Given the description of an element on the screen output the (x, y) to click on. 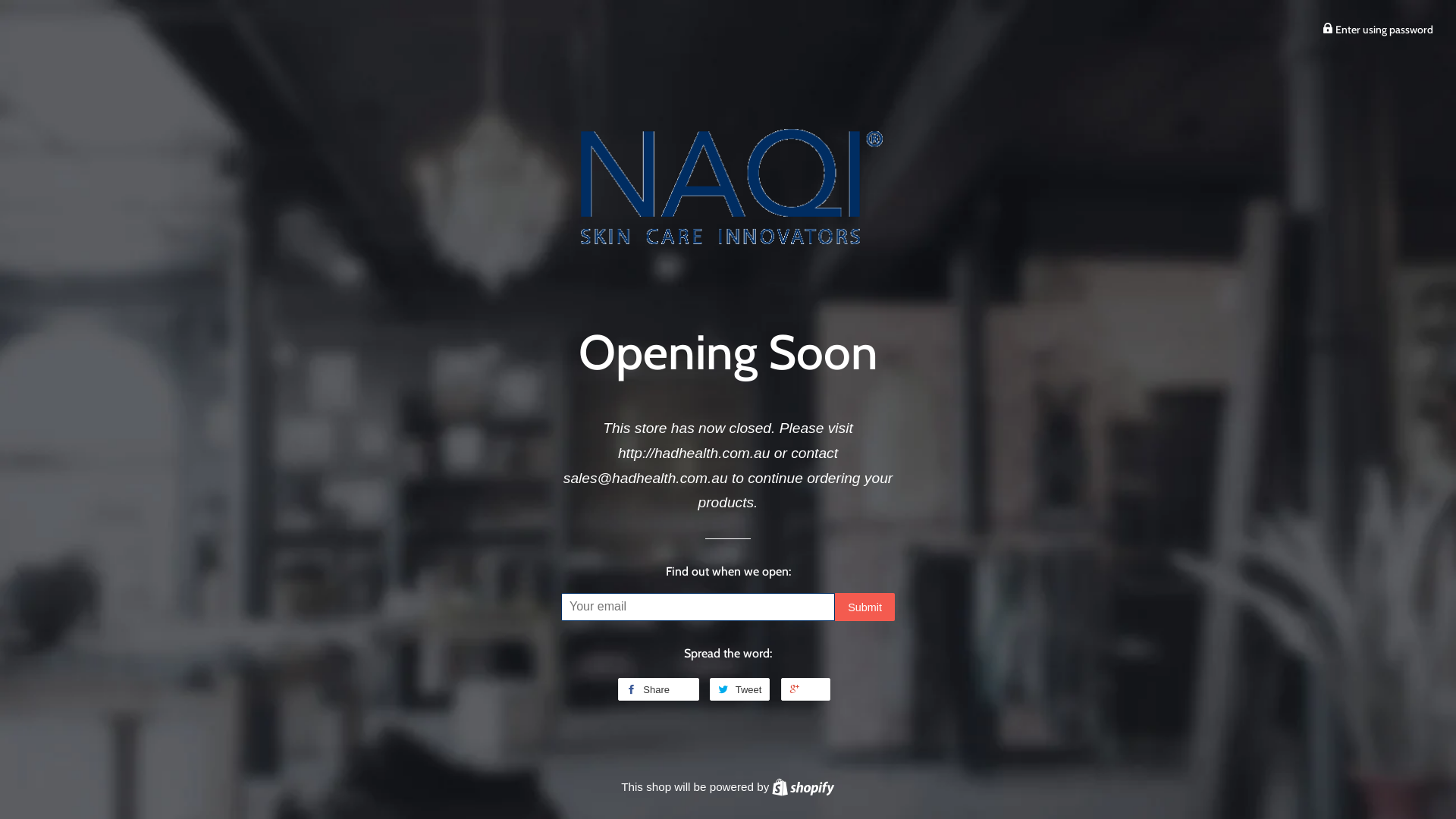
Lock icon Enter using password Element type: text (1377, 29)
Tweet Element type: text (739, 688)
Share Element type: text (658, 688)
Submit Element type: text (864, 607)
Shopify logo
Shopify Element type: text (802, 786)
